Given the description of an element on the screen output the (x, y) to click on. 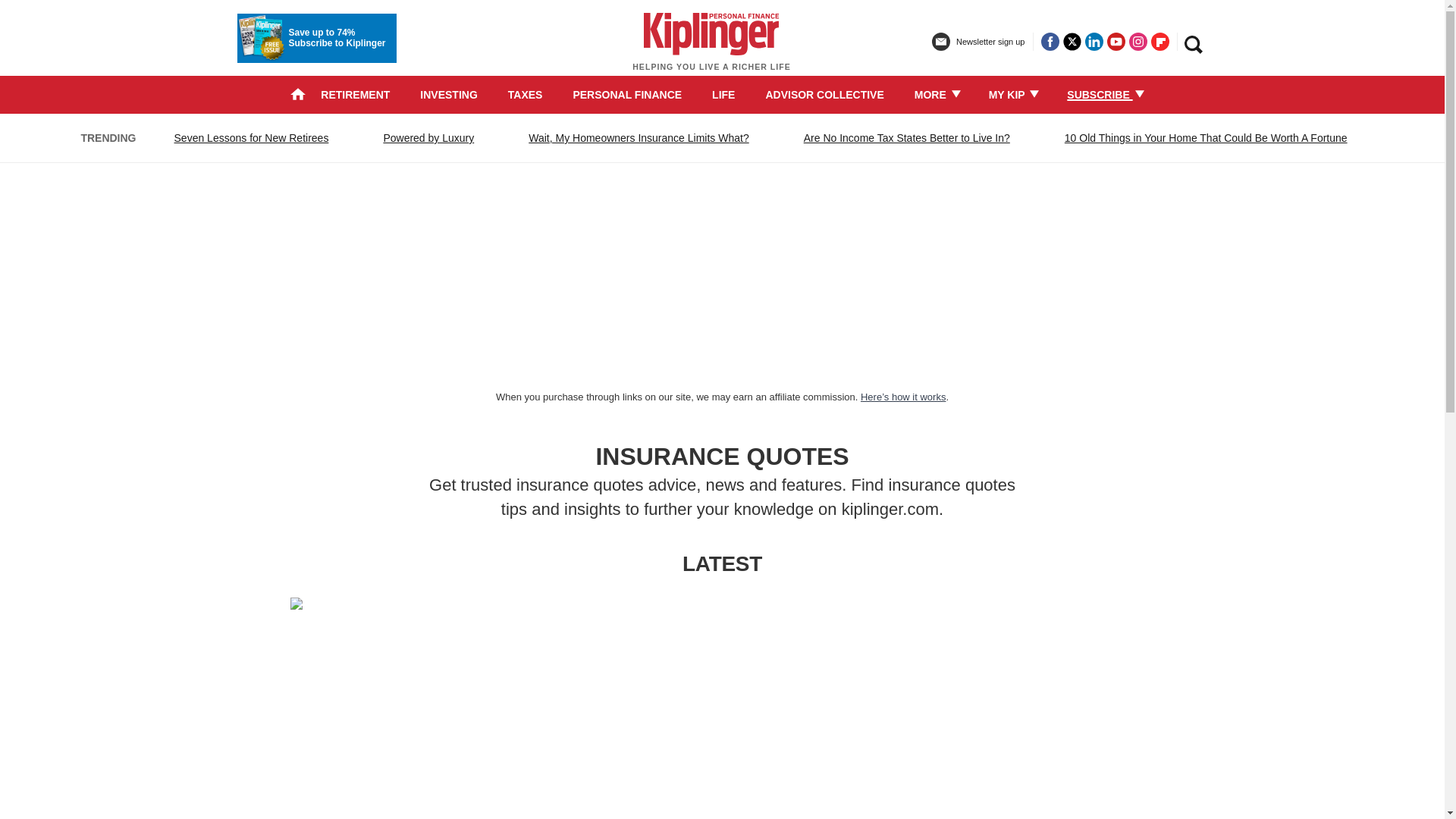
HELPING YOU LIVE A RICHER LIFE (710, 48)
TAXES (525, 94)
RETIREMENT (355, 94)
INVESTING (448, 94)
LIFE (723, 94)
PERSONAL FINANCE (626, 94)
